Given the description of an element on the screen output the (x, y) to click on. 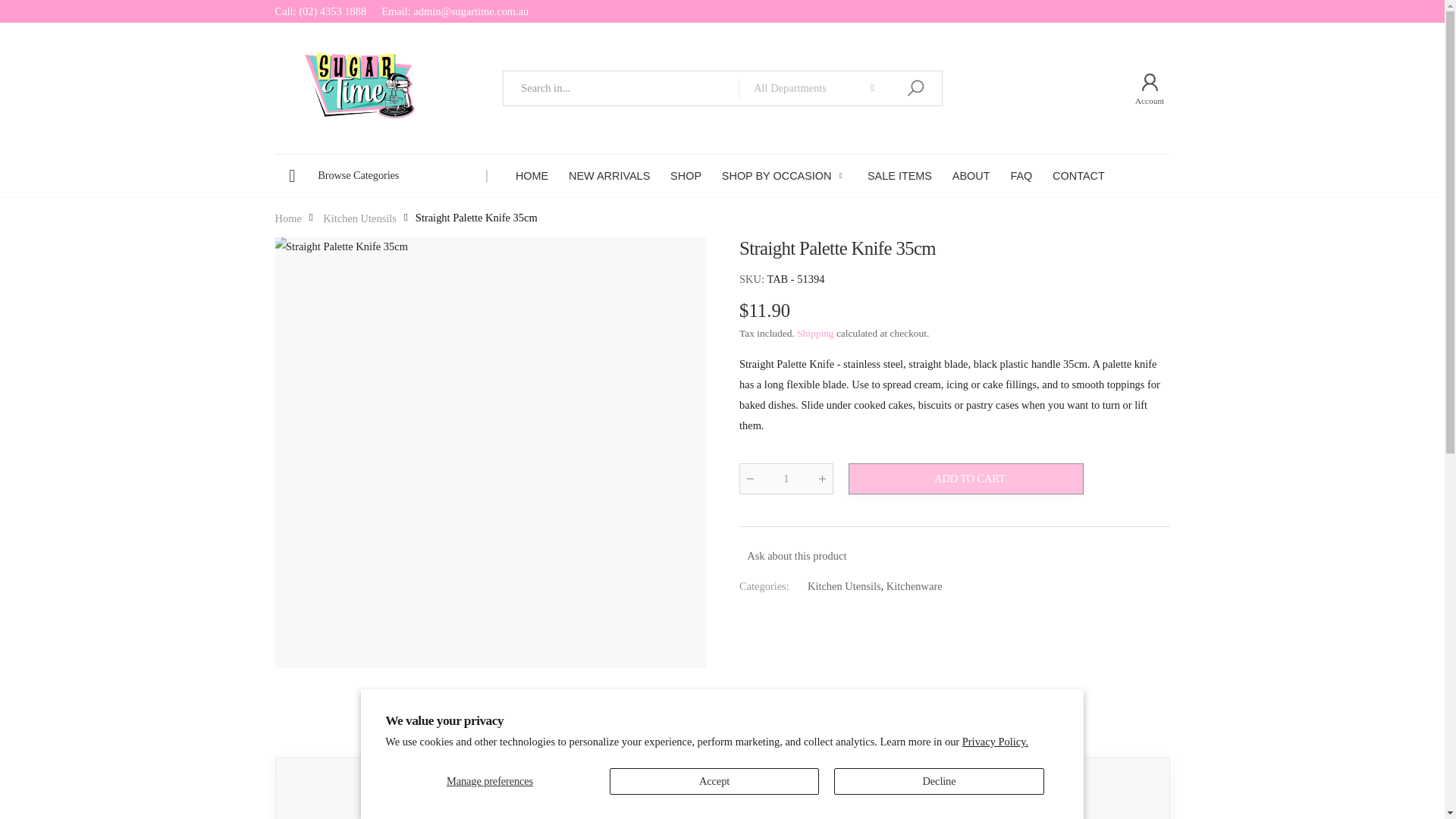
Butter Spreader With Wooden Handle (1086, 788)
Cranked Palette Knife 30cm (722, 788)
Browse Categories (380, 175)
Decline (938, 781)
Privacy Policy. (994, 741)
Kitchen Utensils (359, 217)
Wooden Spatula Cranked 100mm (540, 788)
Cranked Palette Knife 15cm (358, 788)
Manage preferences (489, 781)
NEW ARRIVALS (609, 175)
